Given the description of an element on the screen output the (x, y) to click on. 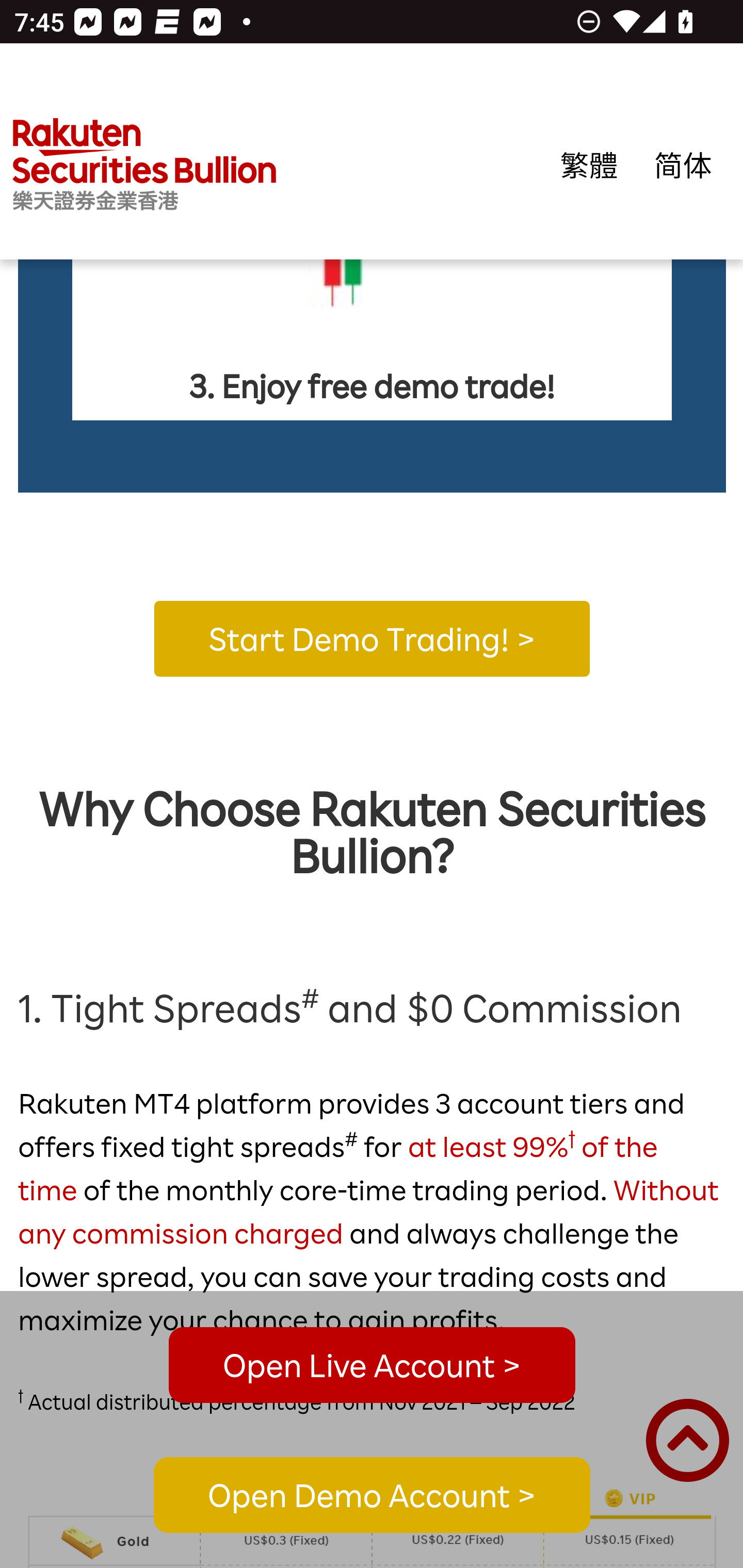
繁體 (589, 164)
简体 (683, 164)
Start Demo Trading! > (371, 638)
Open Live Account > (371, 1365)
Open Demo Account > (371, 1495)
